Given the description of an element on the screen output the (x, y) to click on. 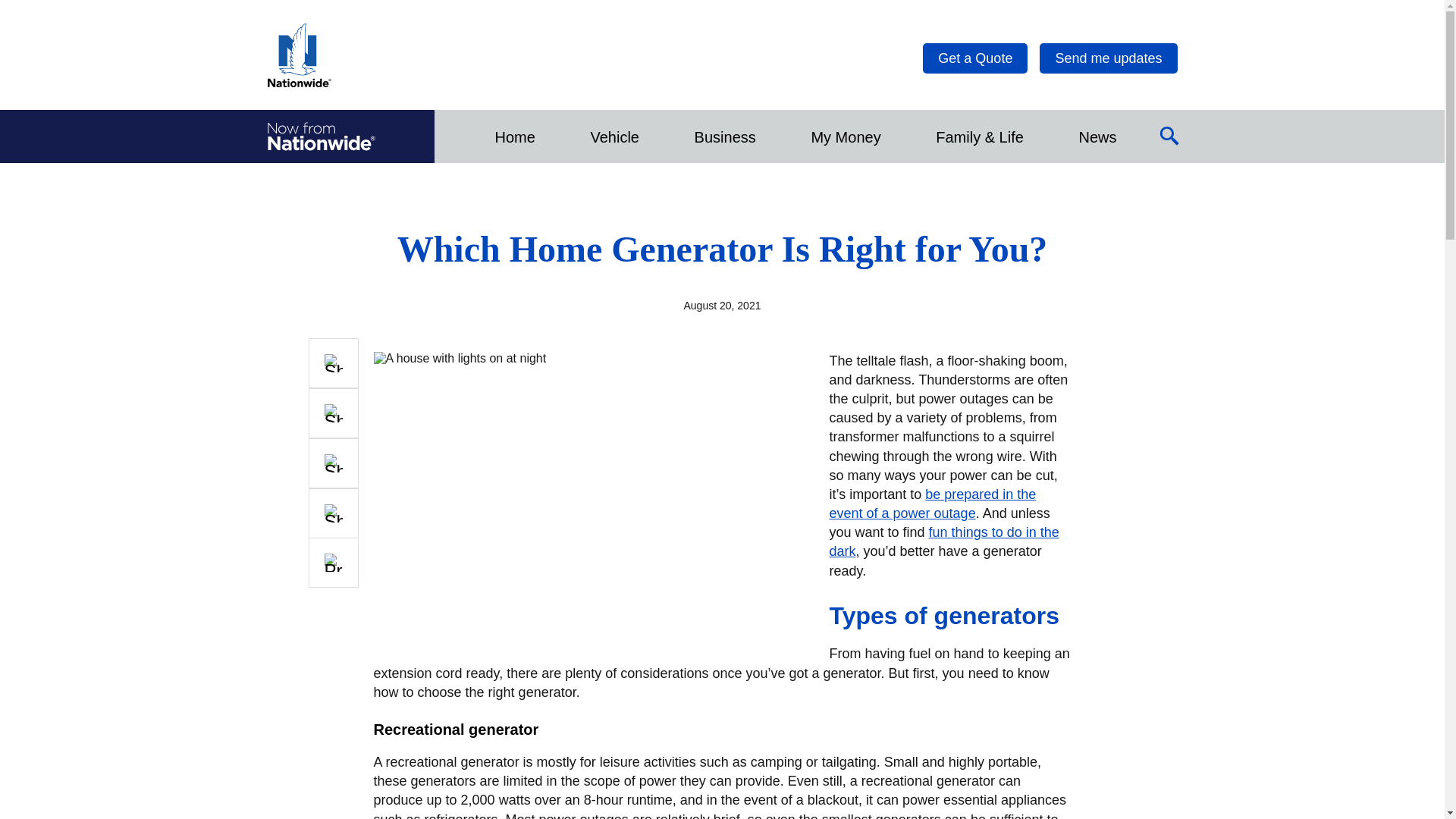
Prepare for a Power Outage (932, 503)
Home (514, 135)
My Money (844, 135)
Get a Quote (975, 58)
Business (725, 135)
Vehicle (614, 135)
Blackout Activities (944, 541)
Send me updates (1107, 58)
